Given the description of an element on the screen output the (x, y) to click on. 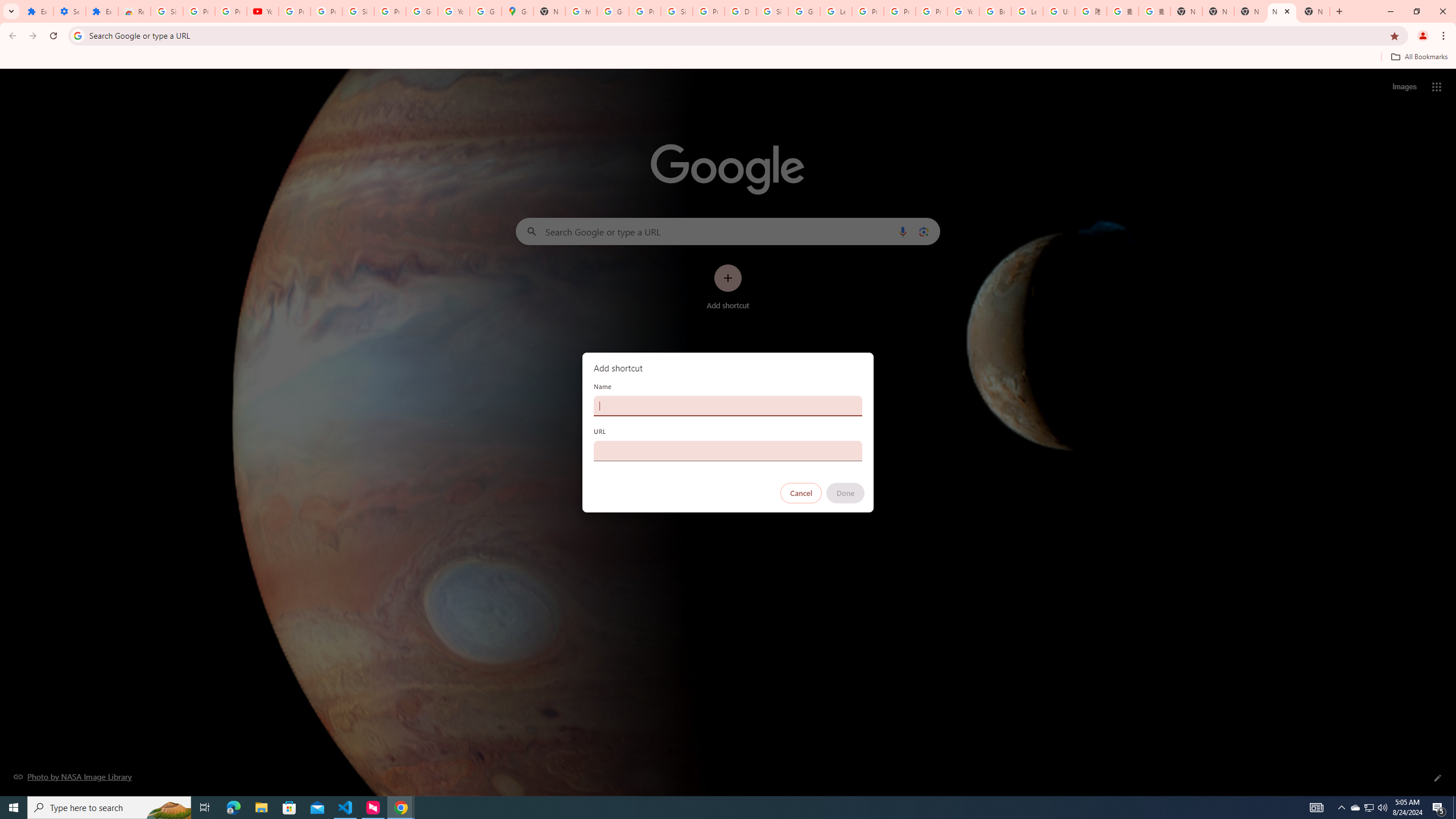
URL (727, 450)
Google Account (421, 11)
YouTube (963, 11)
Extensions (101, 11)
Done (845, 493)
All Bookmarks (1418, 56)
Extensions (37, 11)
